Given the description of an element on the screen output the (x, y) to click on. 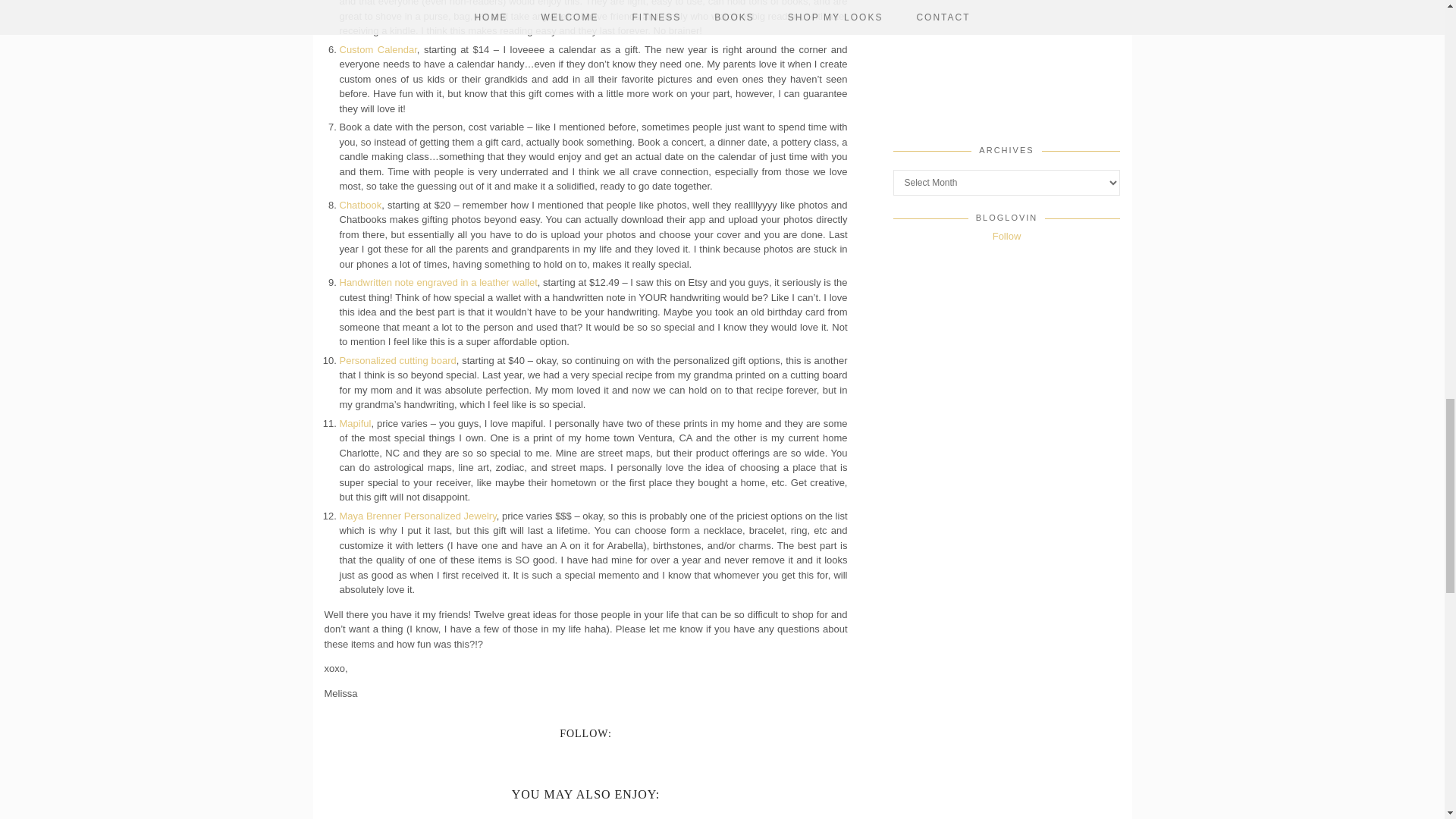
Personalized cutting board (398, 360)
Custom Calendar (377, 49)
Mapiful (355, 422)
Chatbook (360, 204)
Handwritten note engraved in a leather wallet (438, 282)
Maya Brenner Personalized Jewelry (417, 514)
